Given the description of an element on the screen output the (x, y) to click on. 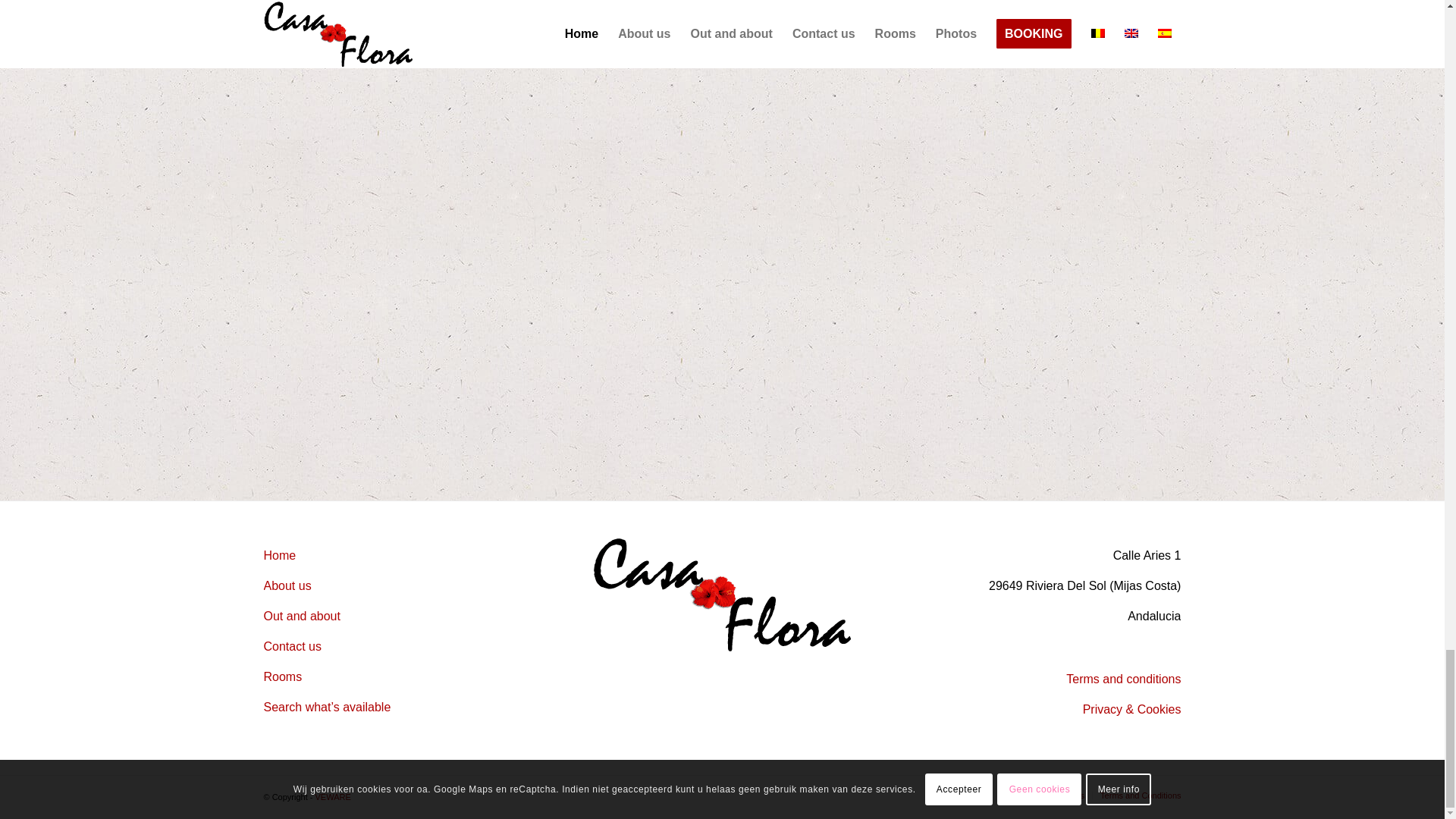
Out and about (301, 615)
About us (287, 585)
Contact us (292, 645)
Terms and Conditions (1140, 795)
Terms and conditions (1122, 678)
Rooms (282, 676)
Home (280, 554)
VEWARE (332, 796)
